Given the description of an element on the screen output the (x, y) to click on. 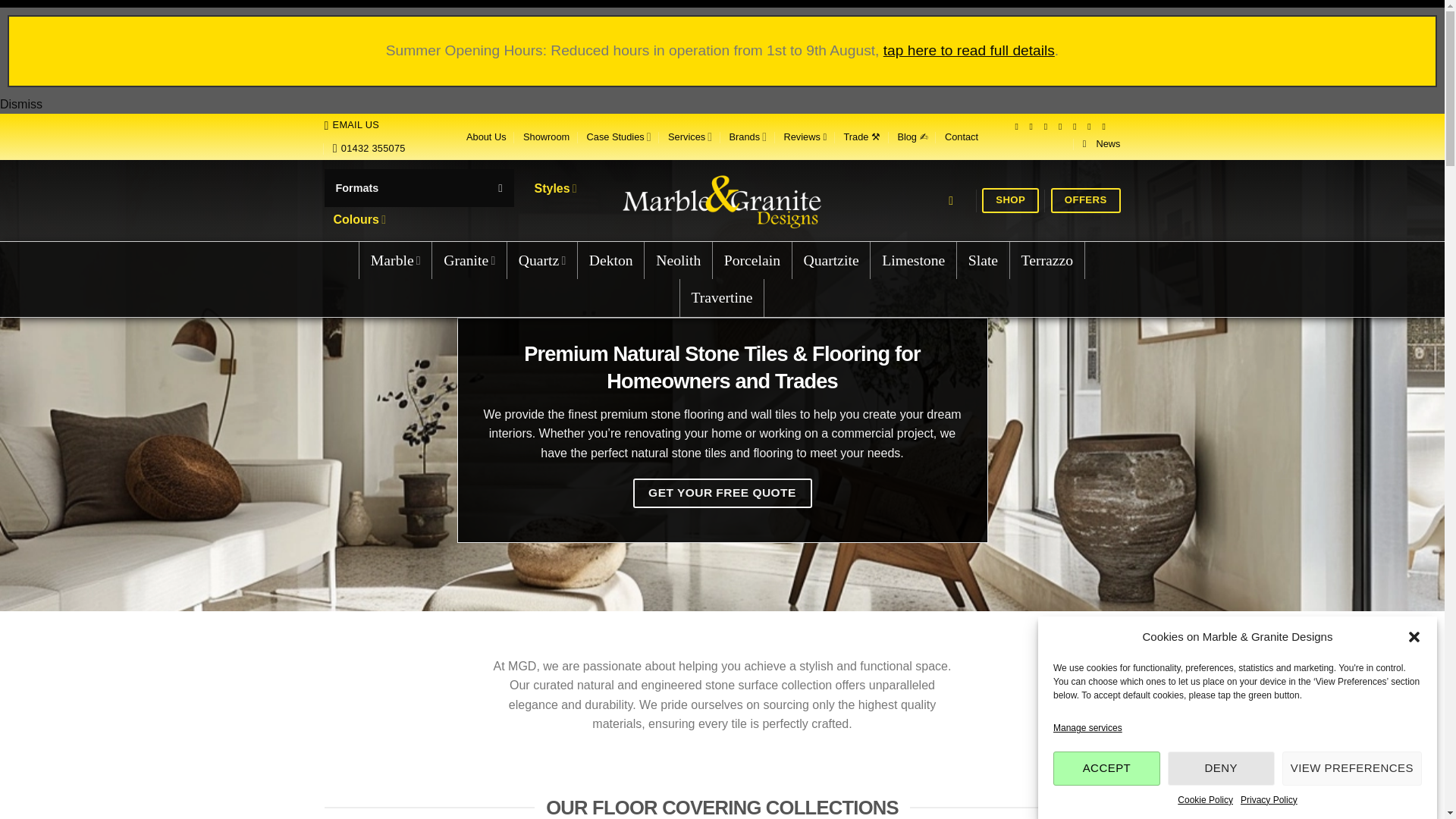
Showroom (545, 137)
EMAIL US (351, 124)
01432 355075 (369, 148)
Join our Newsletter (1102, 143)
Case Studies (618, 137)
About Us (485, 137)
Dismiss (21, 103)
01432 355075 (369, 148)
tap here to read full details (968, 50)
